Given the description of an element on the screen output the (x, y) to click on. 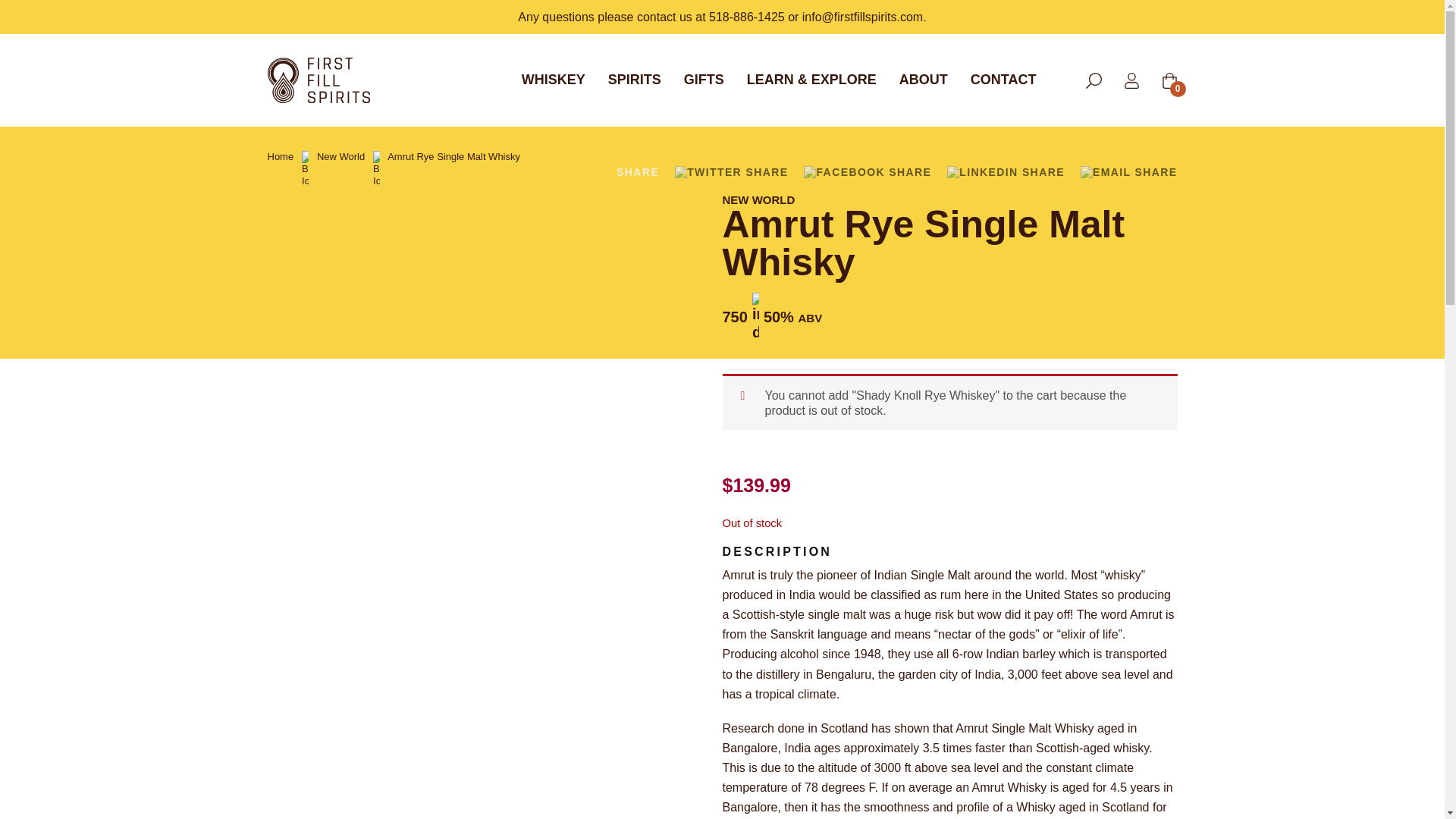
ABOUT (923, 80)
CONTACT (1003, 80)
0 (1169, 80)
Home (280, 156)
SPIRITS (634, 80)
GIFTS (703, 80)
WHISKEY (553, 80)
New World (341, 156)
